Given the description of an element on the screen output the (x, y) to click on. 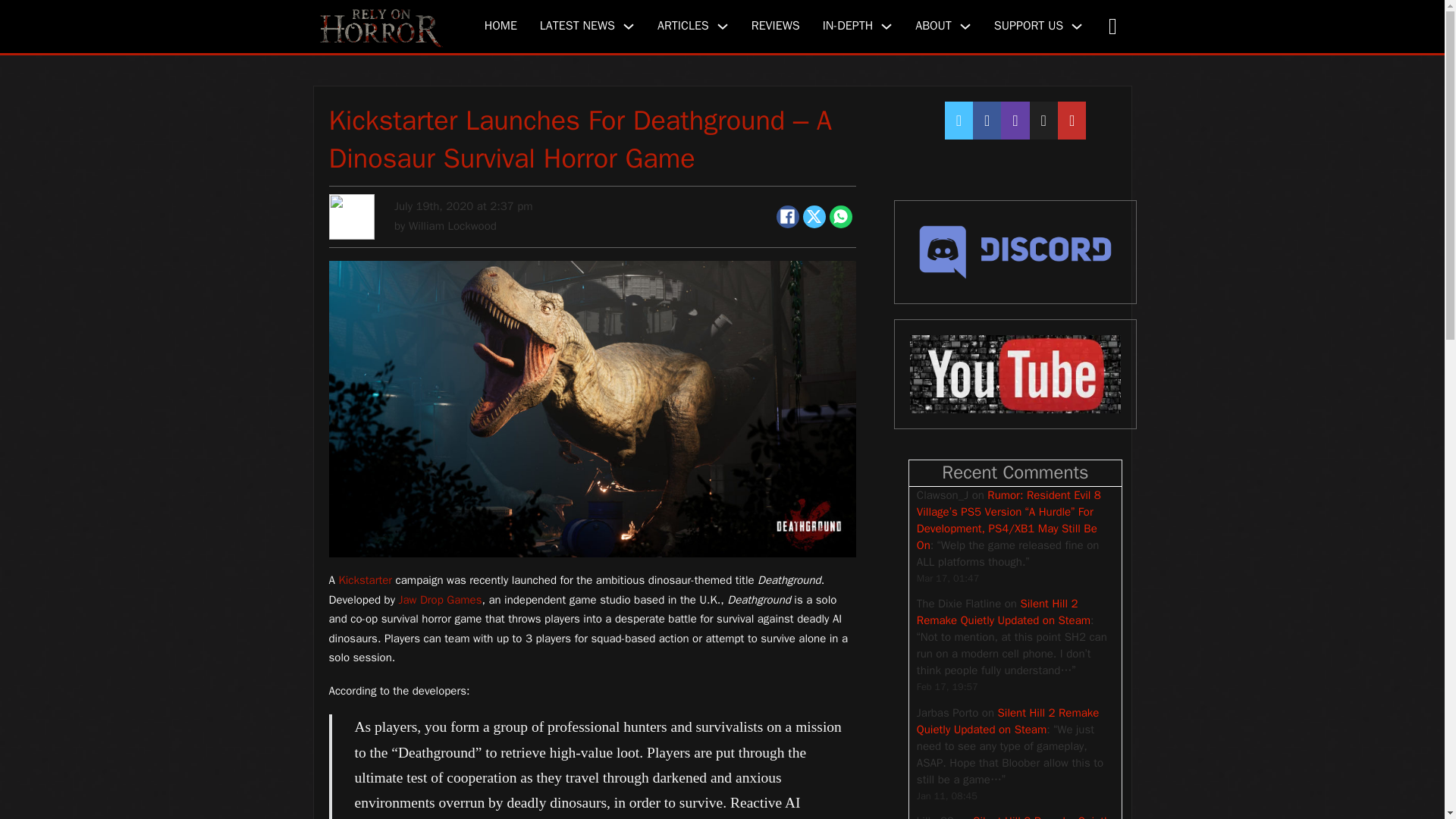
REVIEWS (775, 25)
IN-DEPTH (847, 25)
HOME (500, 25)
Posts by William Lockwood (452, 225)
ABOUT (933, 25)
YouTube (1015, 374)
LATEST NEWS (577, 25)
Discord (1015, 251)
ARTICLES (683, 25)
